Given the description of an element on the screen output the (x, y) to click on. 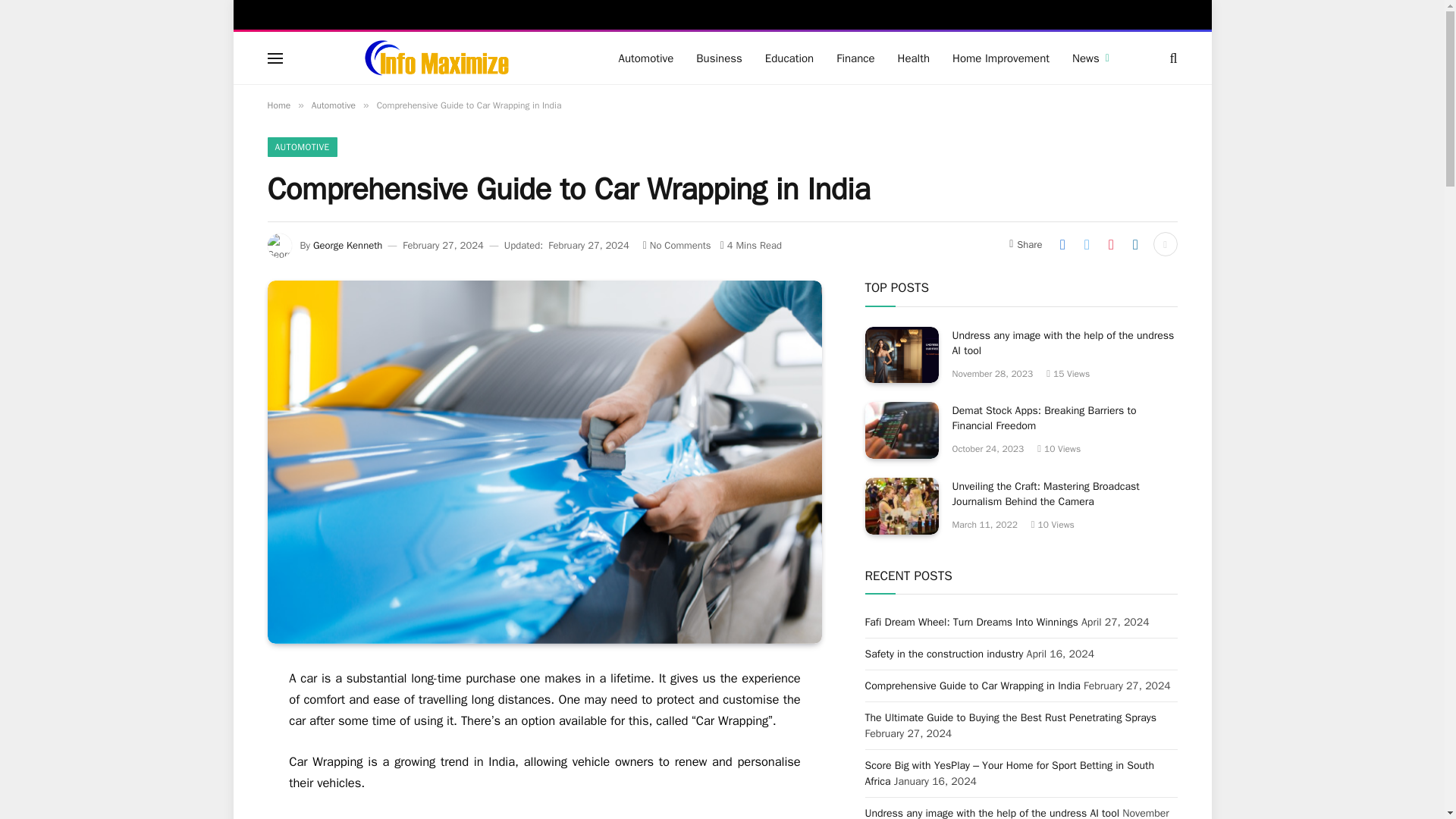
Education (789, 57)
Finance (855, 57)
Health (914, 57)
Share on LinkedIn (1135, 243)
Business (719, 57)
AUTOMOTIVE (301, 147)
No Comments (677, 245)
News (1091, 57)
Home (277, 105)
Share on Pinterest (1110, 243)
Share on Facebook (1062, 243)
Posts by George Kenneth (347, 245)
Automotive (333, 105)
George Kenneth (347, 245)
Info Maximize (437, 58)
